Given the description of an element on the screen output the (x, y) to click on. 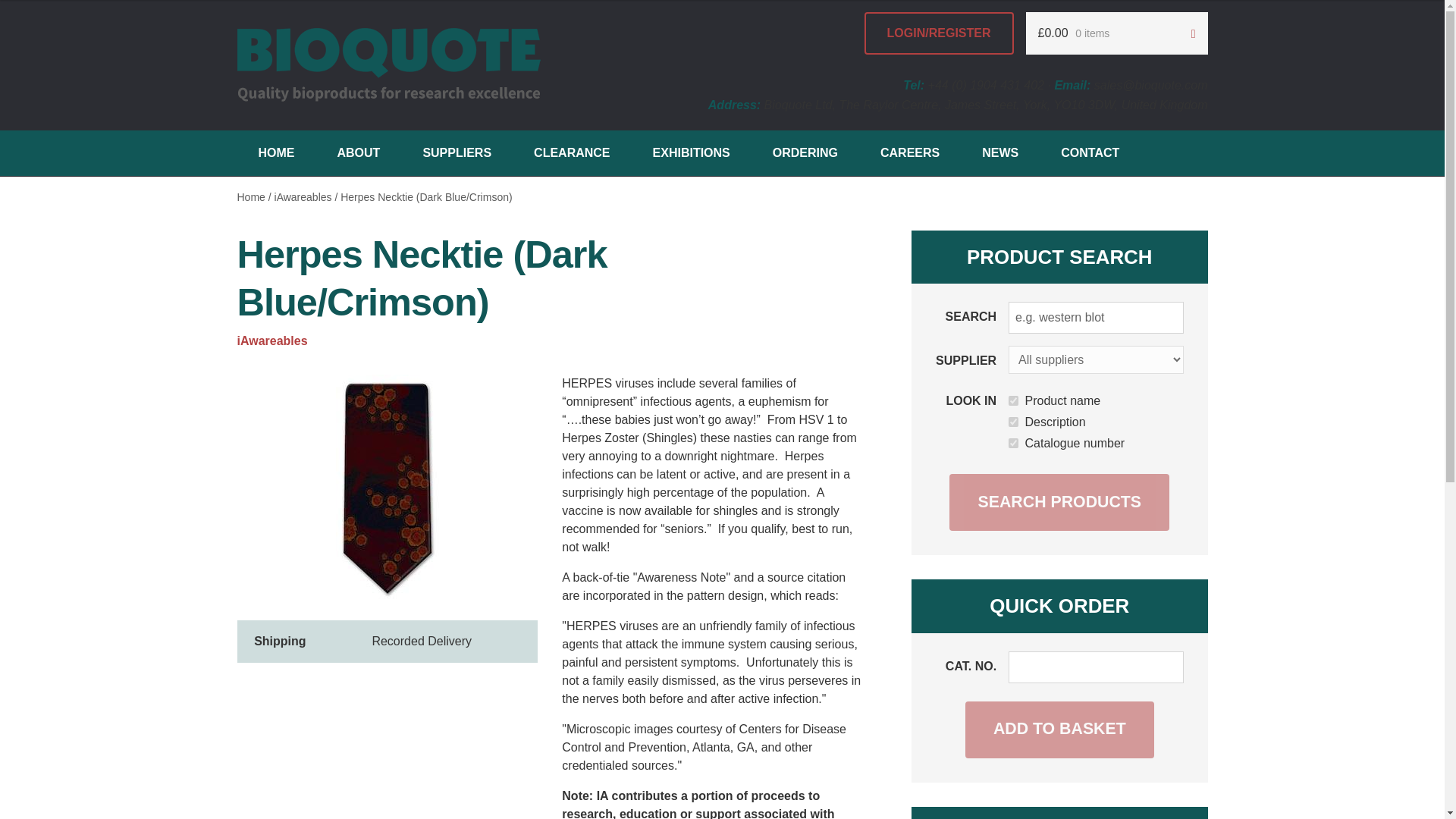
desc (1013, 421)
code (1013, 442)
HOME (275, 153)
name (1013, 400)
View your shopping basket (1116, 33)
Bioquote (387, 65)
SUPPLIERS (456, 153)
ABOUT (358, 153)
